Given the description of an element on the screen output the (x, y) to click on. 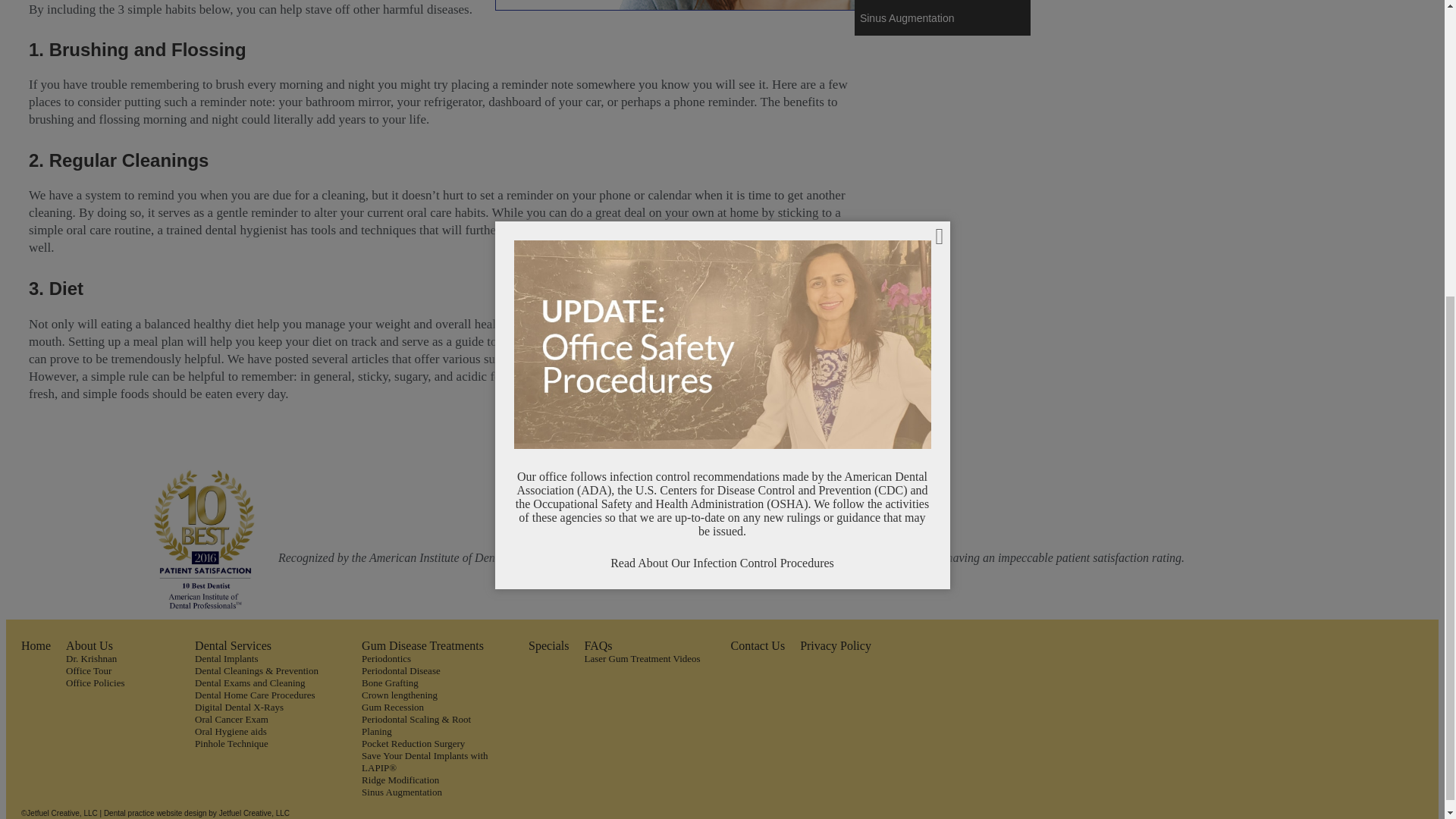
Sinus Augmentation (942, 20)
Website Design Tampa FL (254, 813)
Ridge Modification (942, 2)
